Given the description of an element on the screen output the (x, y) to click on. 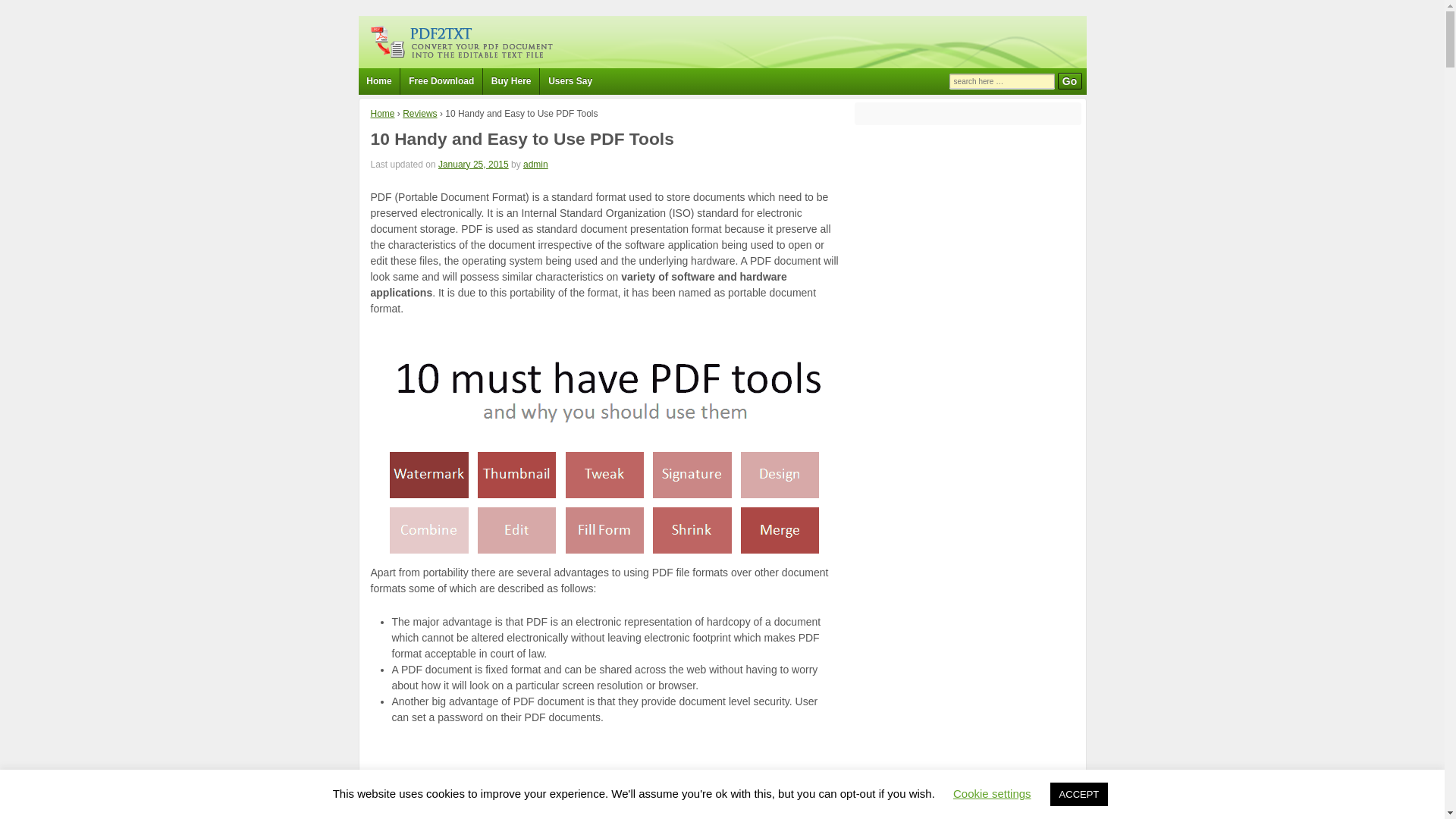
Go (1069, 80)
Home (381, 113)
Buy Here (509, 81)
View all posts by admin (535, 163)
Home (378, 81)
January 25, 2015 (473, 163)
6:12 pm (473, 163)
Go (1069, 80)
Users Say (568, 81)
ACCEPT (1078, 793)
